Given the description of an element on the screen output the (x, y) to click on. 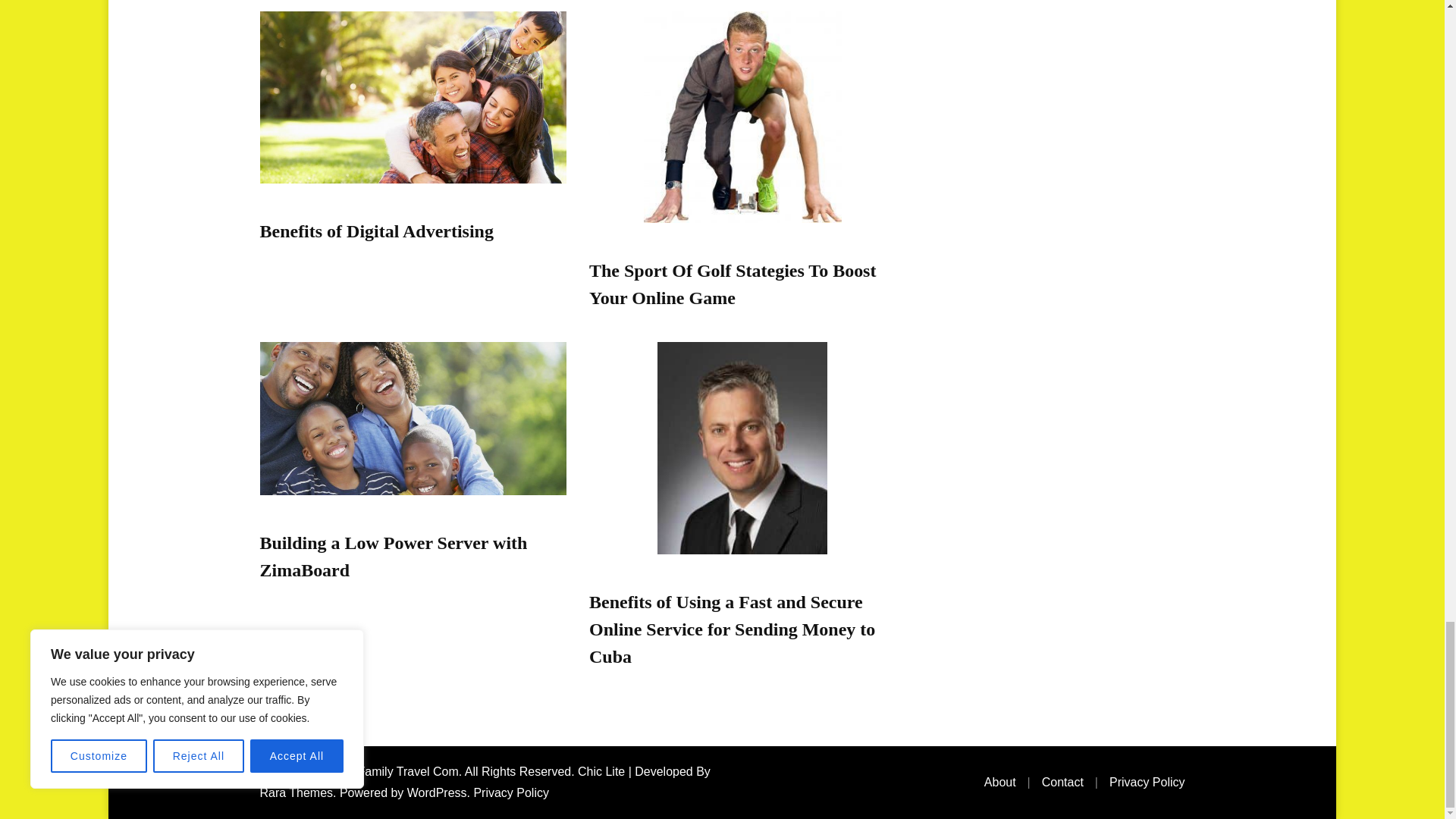
Benefits of Digital Advertising (376, 230)
